Given the description of an element on the screen output the (x, y) to click on. 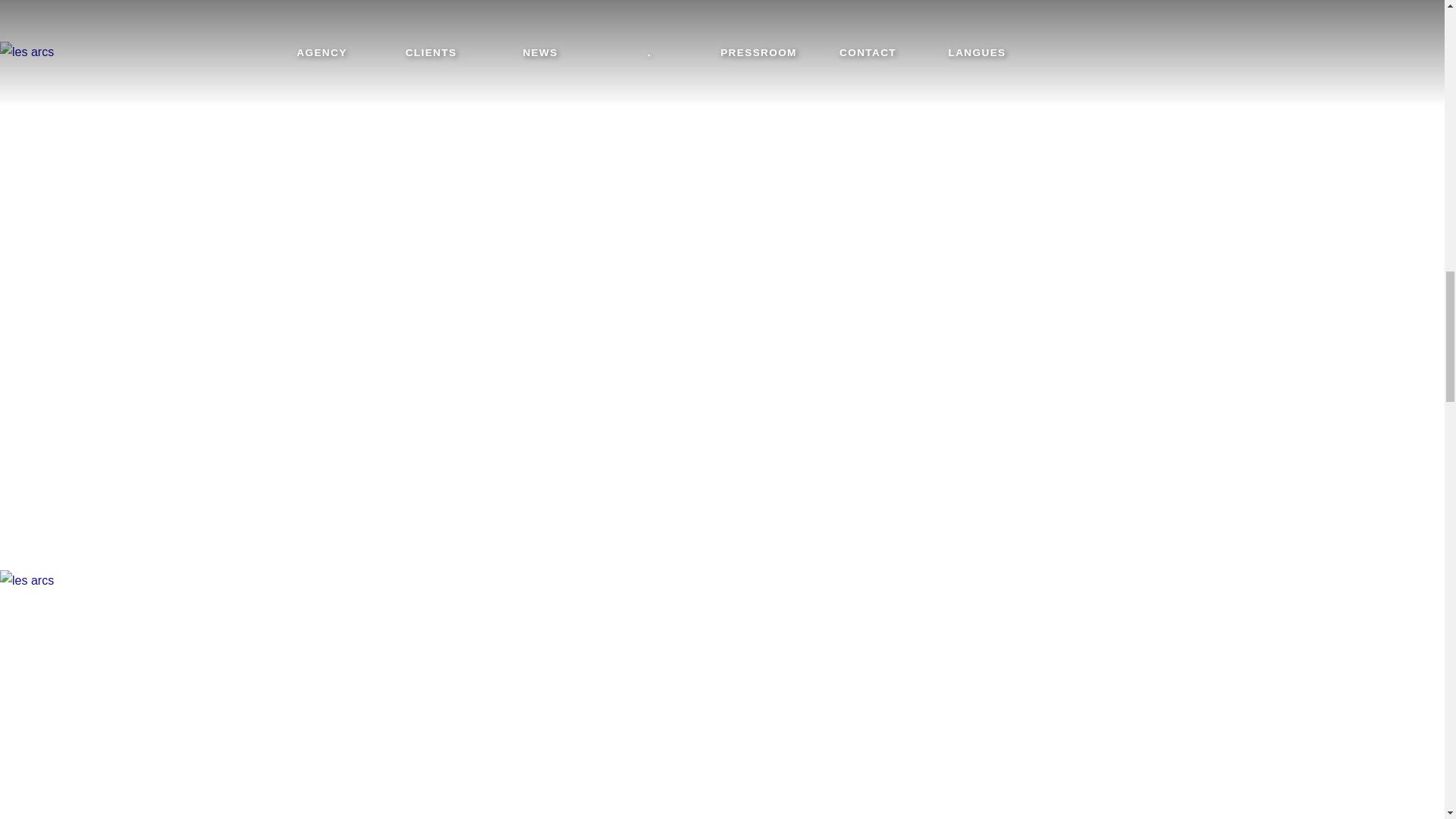
les arcs (469, 21)
